Given the description of an element on the screen output the (x, y) to click on. 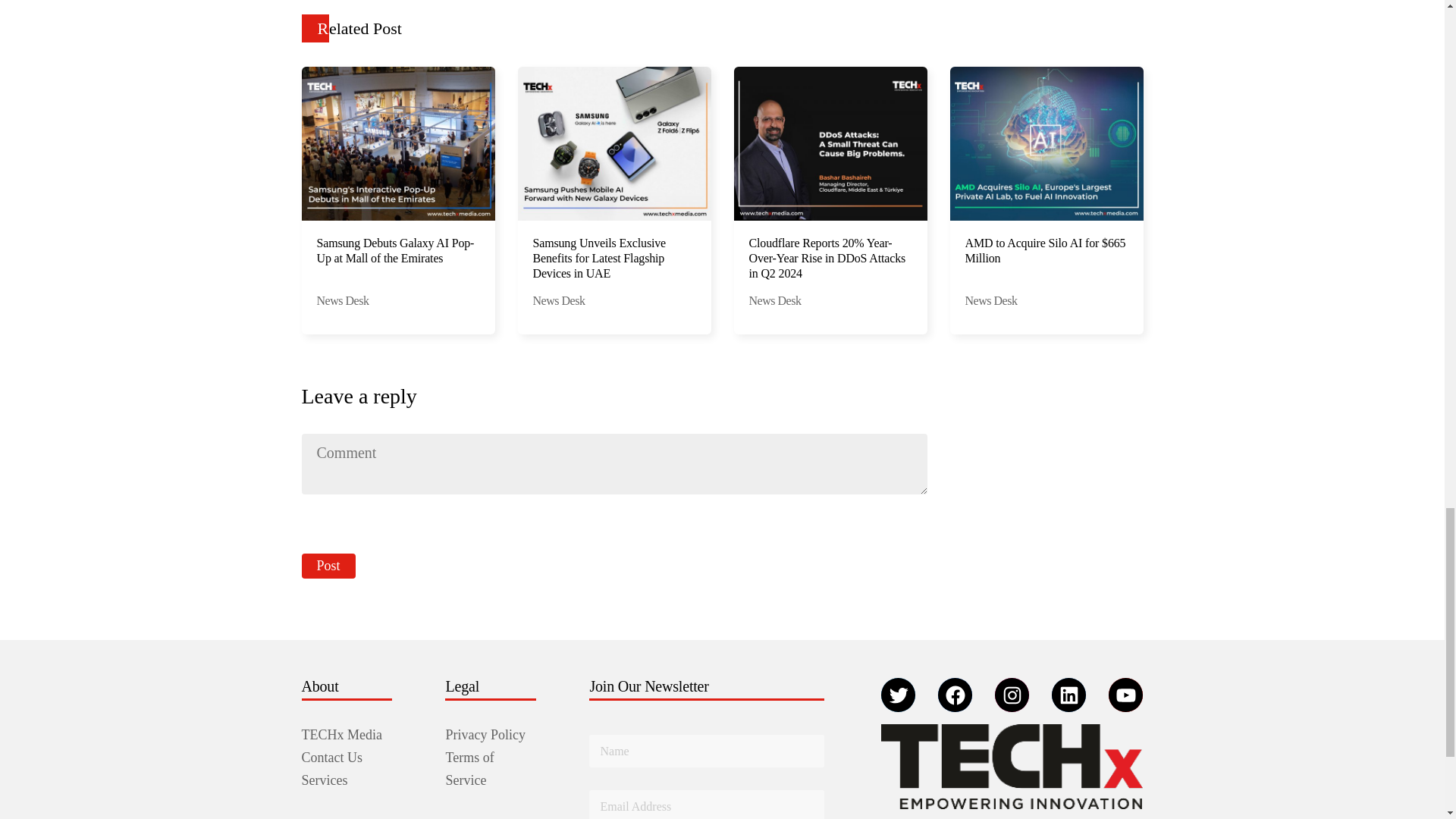
Post (328, 565)
